Given the description of an element on the screen output the (x, y) to click on. 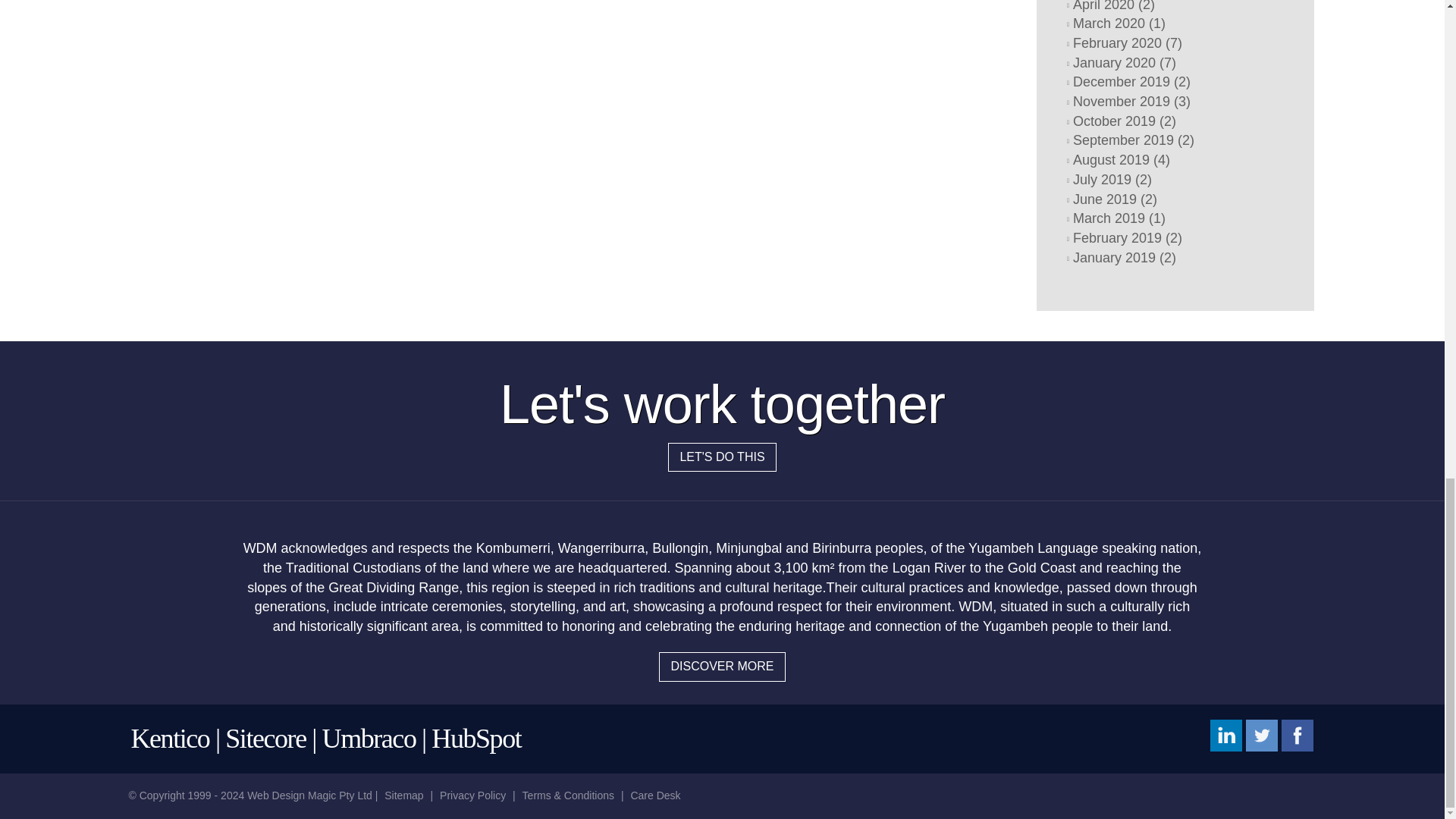
WDM on LinkedIn (1225, 735)
WDM on Facebook (1297, 735)
WDM on Twitter (1262, 735)
